Given the description of an element on the screen output the (x, y) to click on. 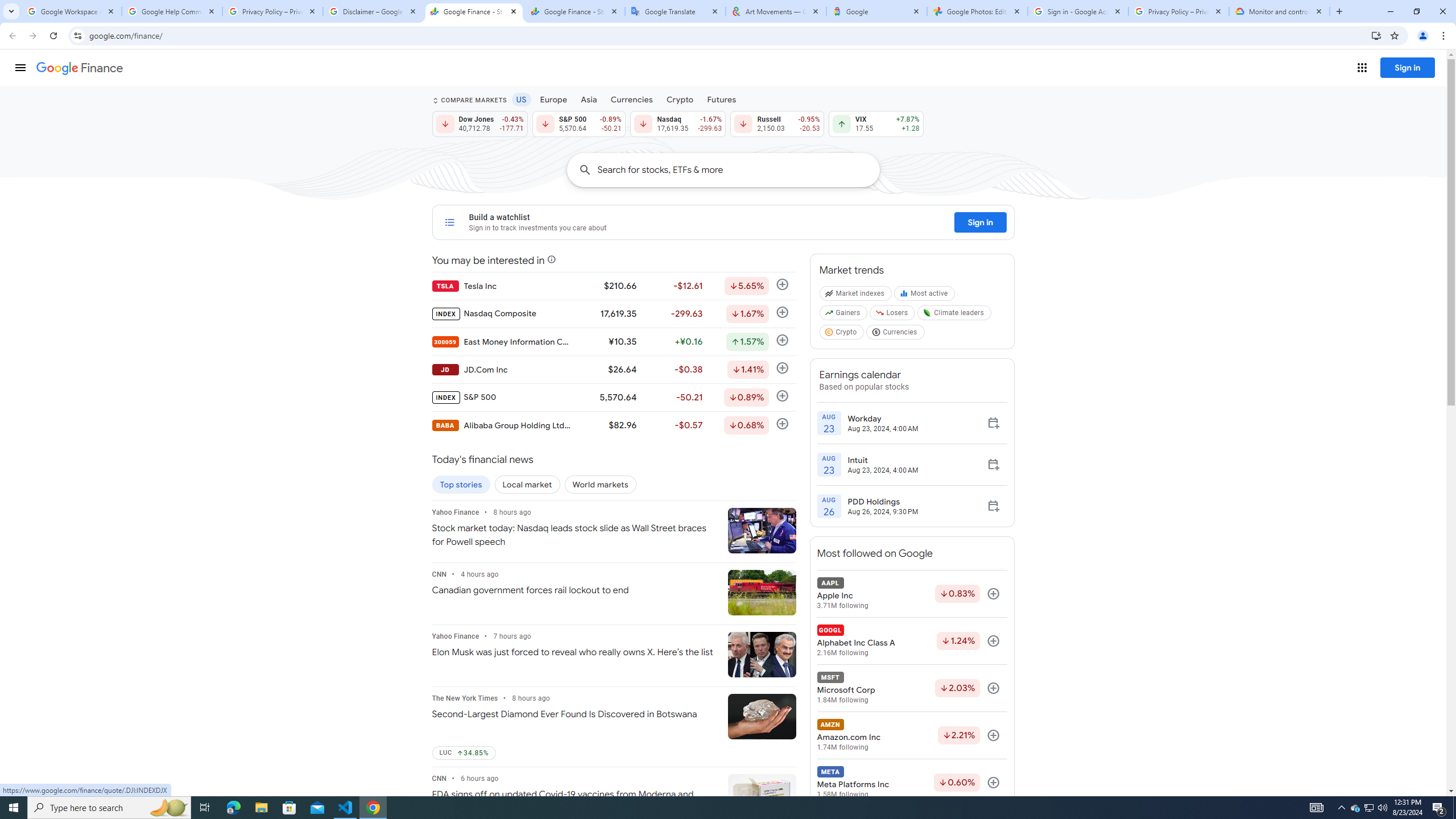
Documents (492, 127)
Transform (59, 567)
This PC (288, 235)
Recent (288, 104)
Account (59, 722)
